Given the description of an element on the screen output the (x, y) to click on. 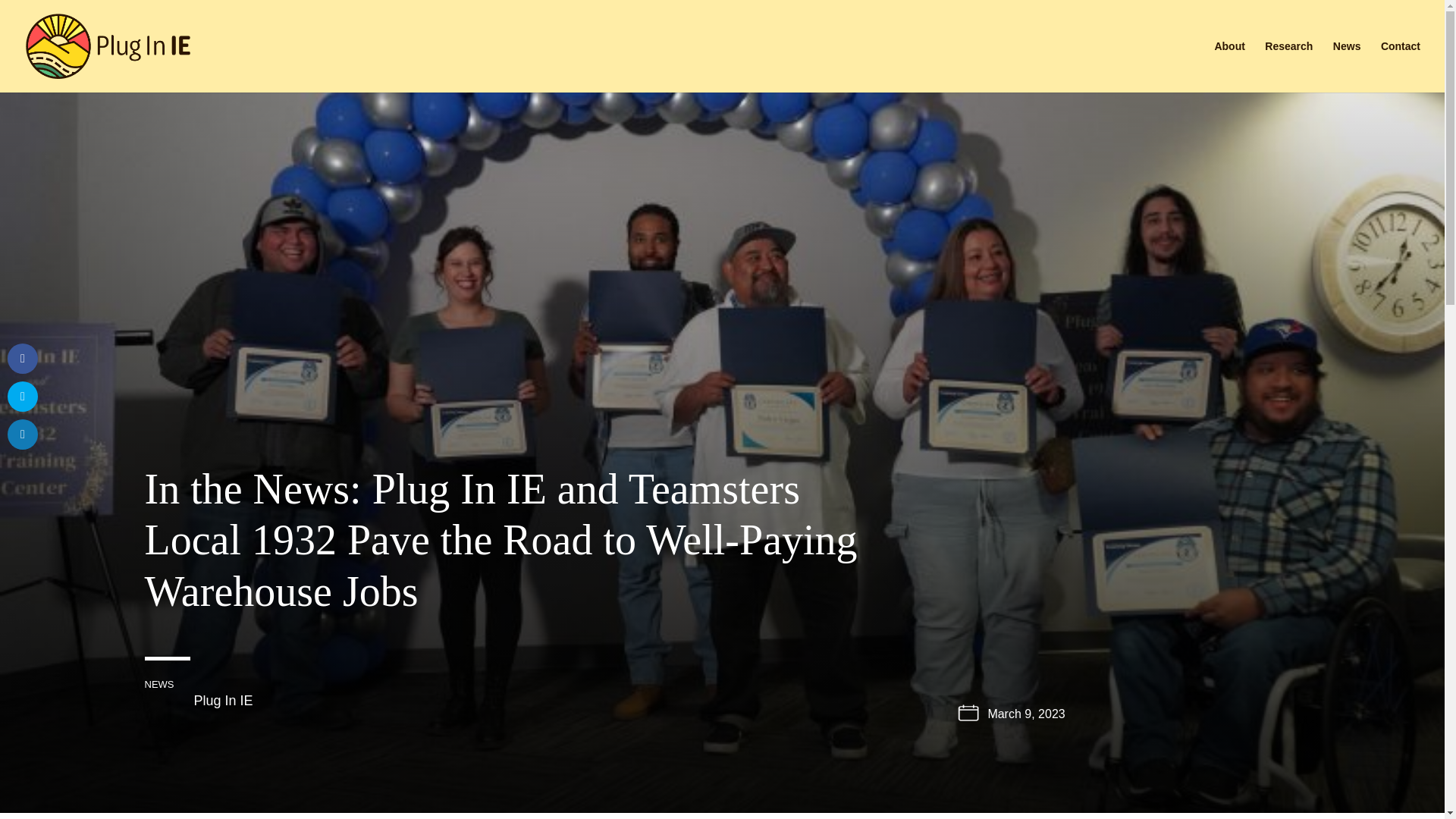
NEWS (158, 684)
Research (1289, 66)
